Given the description of an element on the screen output the (x, y) to click on. 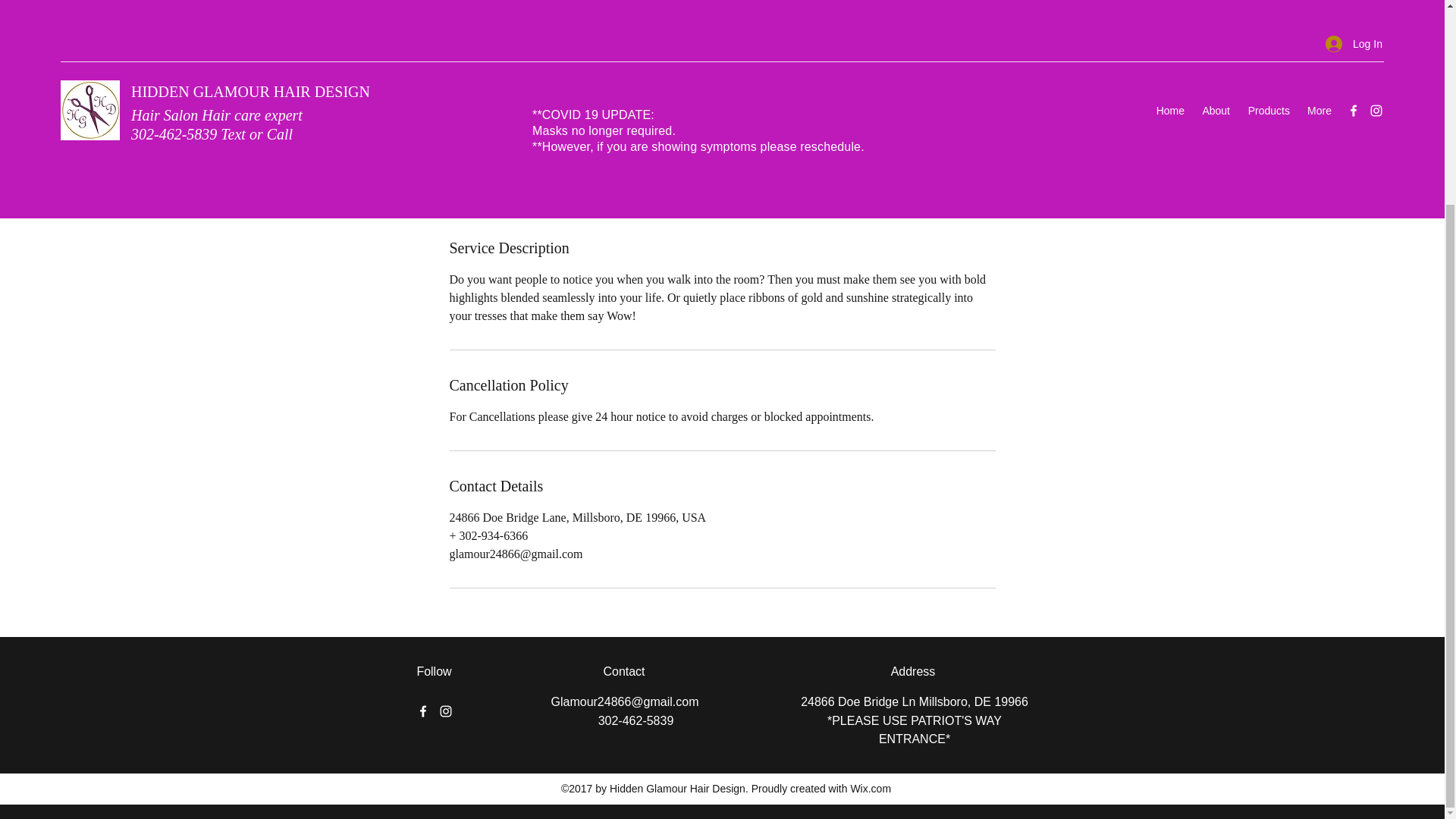
Book Now (498, 173)
